Given the description of an element on the screen output the (x, y) to click on. 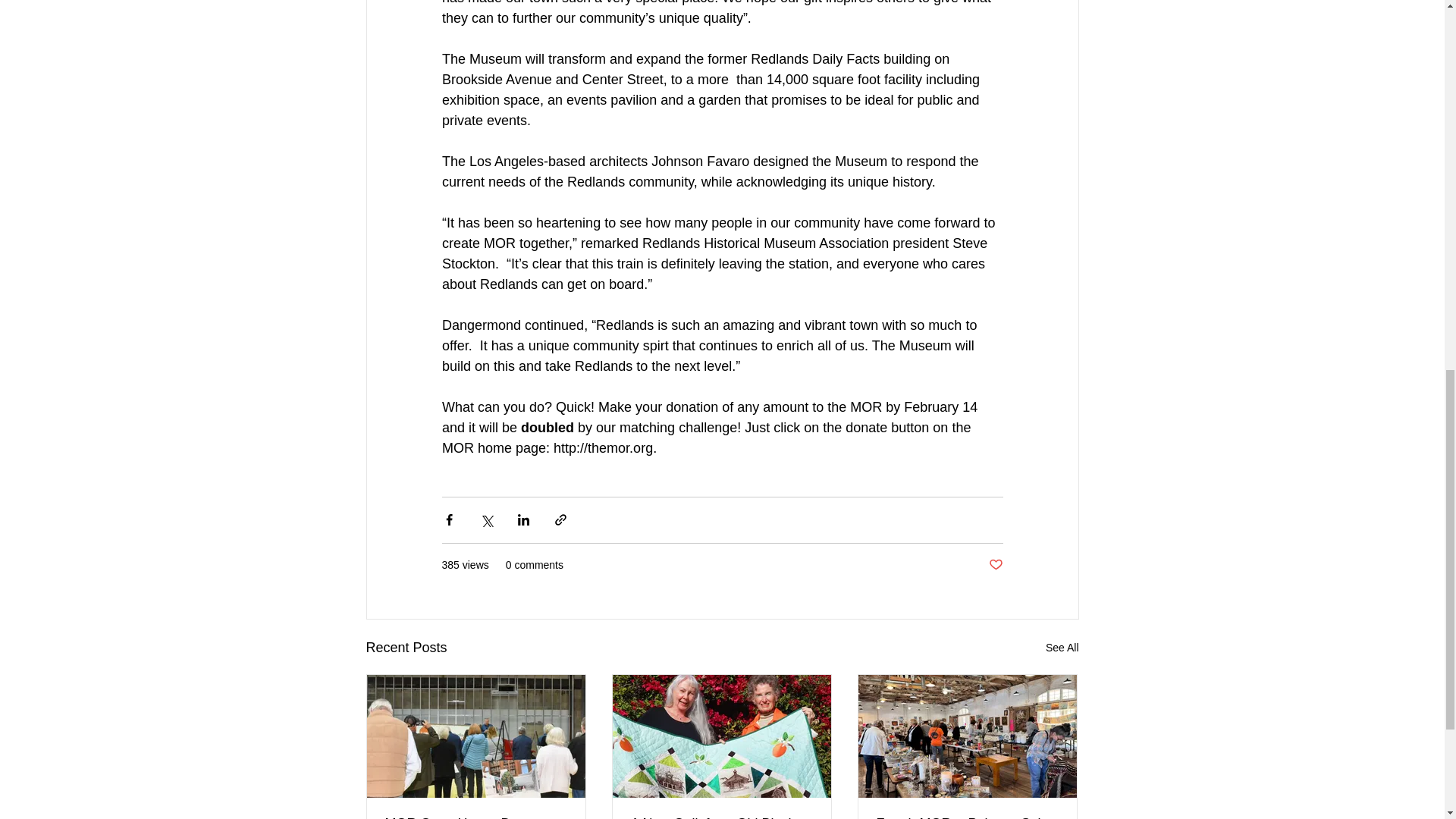
MOR Open House Draws a Crowd (476, 817)
Fourth MOR-a-Palooza Sale a Resounding Success (967, 817)
A New Quilt from Old Blocks (721, 817)
Post not marked as liked (995, 565)
See All (1061, 648)
